Given the description of an element on the screen output the (x, y) to click on. 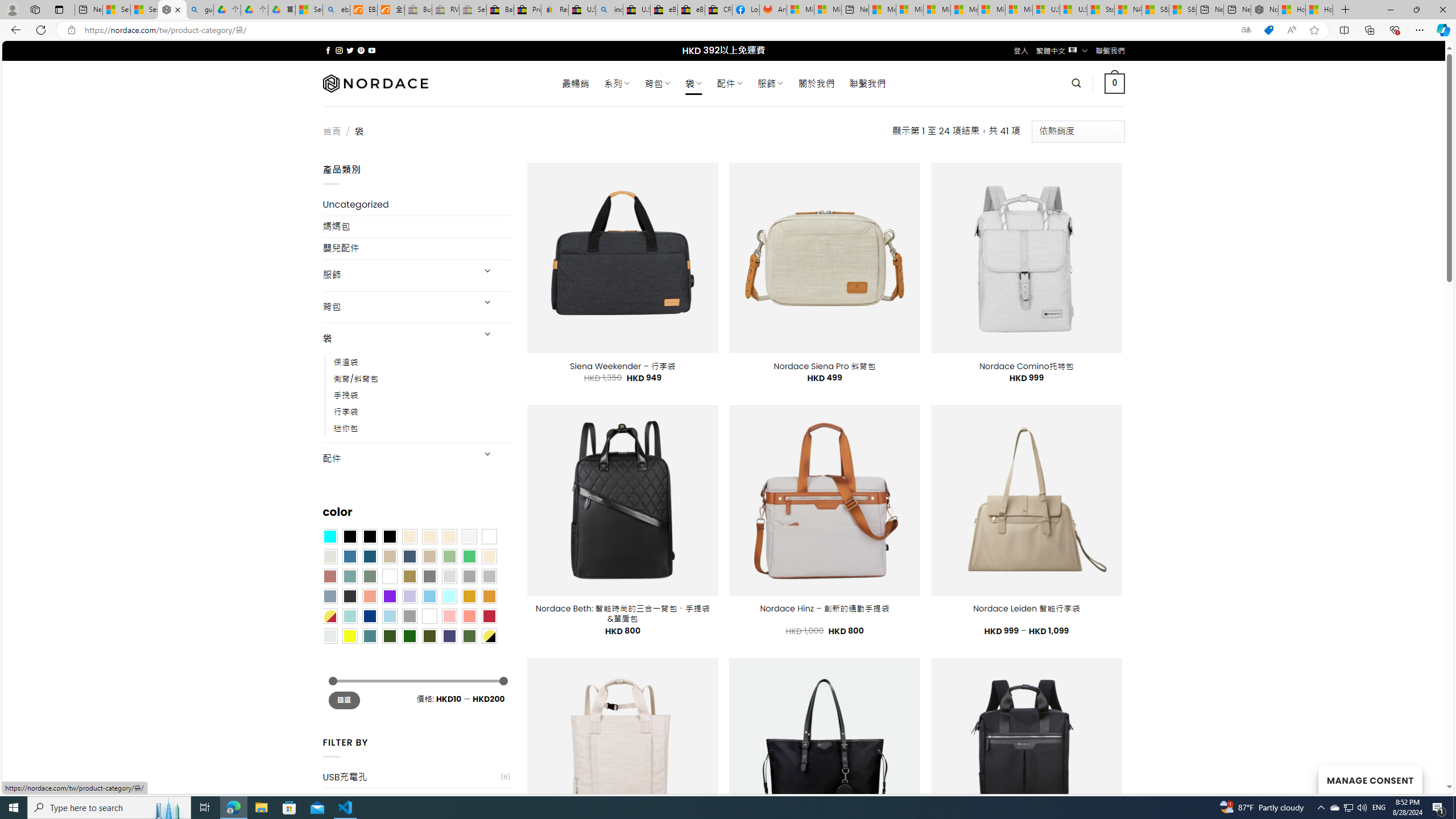
MANAGE CONSENT (1369, 779)
